Given the description of an element on the screen output the (x, y) to click on. 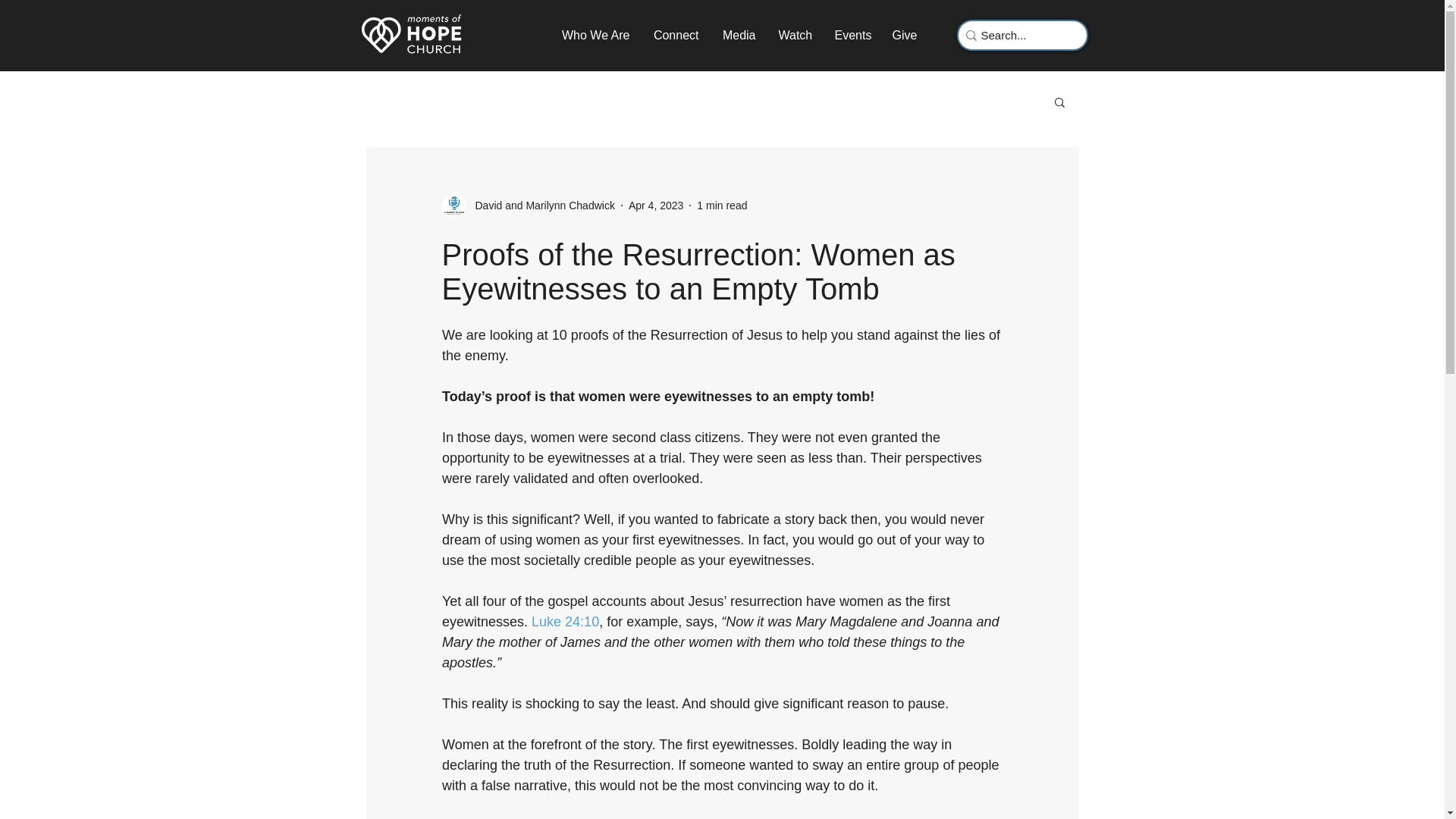
Apr 4, 2023 (655, 204)
David and Marilynn Chadwick (539, 204)
1 min read (721, 204)
Luke 24:10 (564, 621)
